Given the description of an element on the screen output the (x, y) to click on. 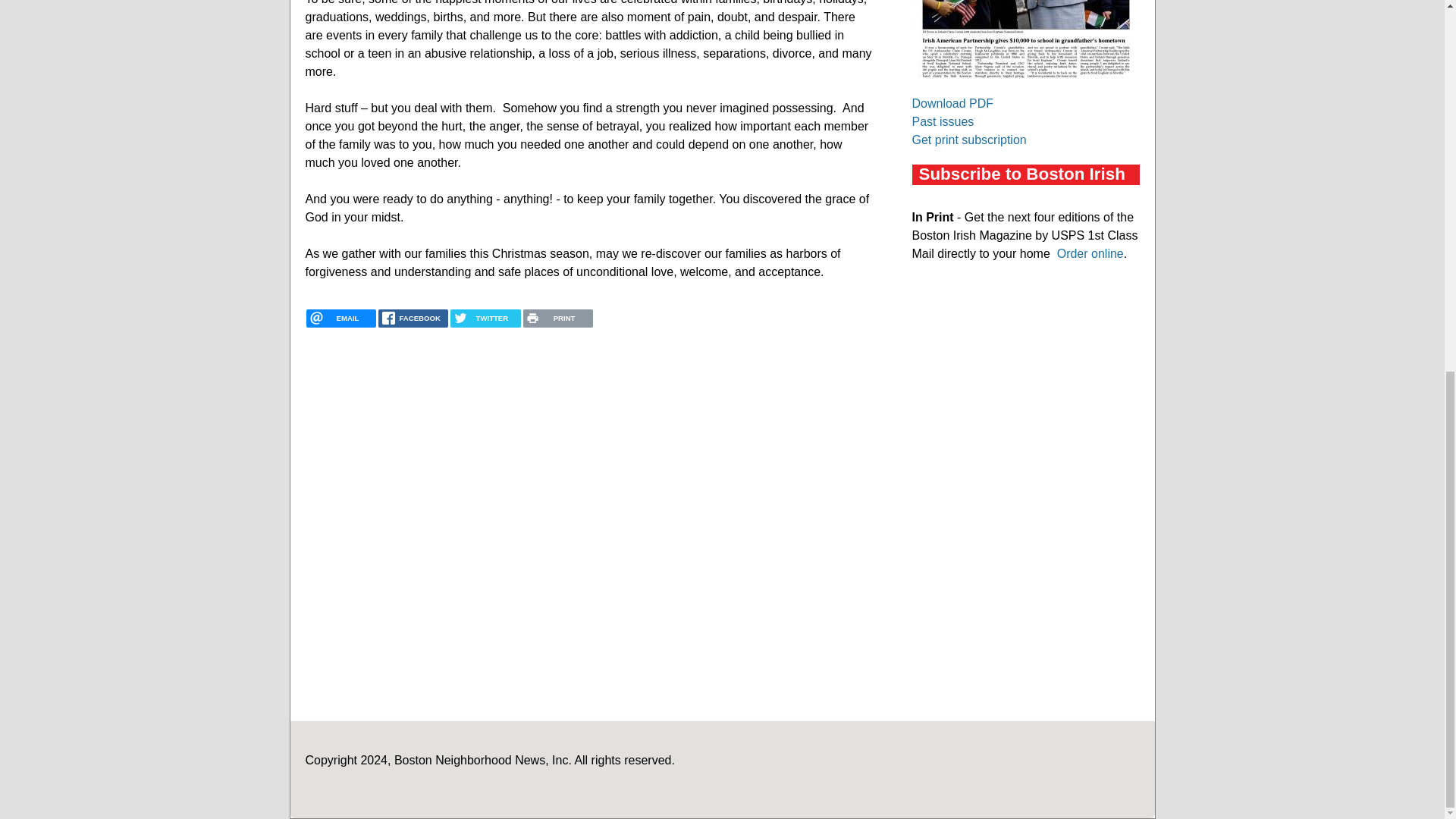
Past issues (942, 121)
Download PDF (951, 103)
TWITTER (484, 318)
EMAIL (340, 318)
Order online (1090, 253)
PRINT (557, 318)
FACEBOOK (413, 318)
Get print subscription (968, 139)
